Given the description of an element on the screen output the (x, y) to click on. 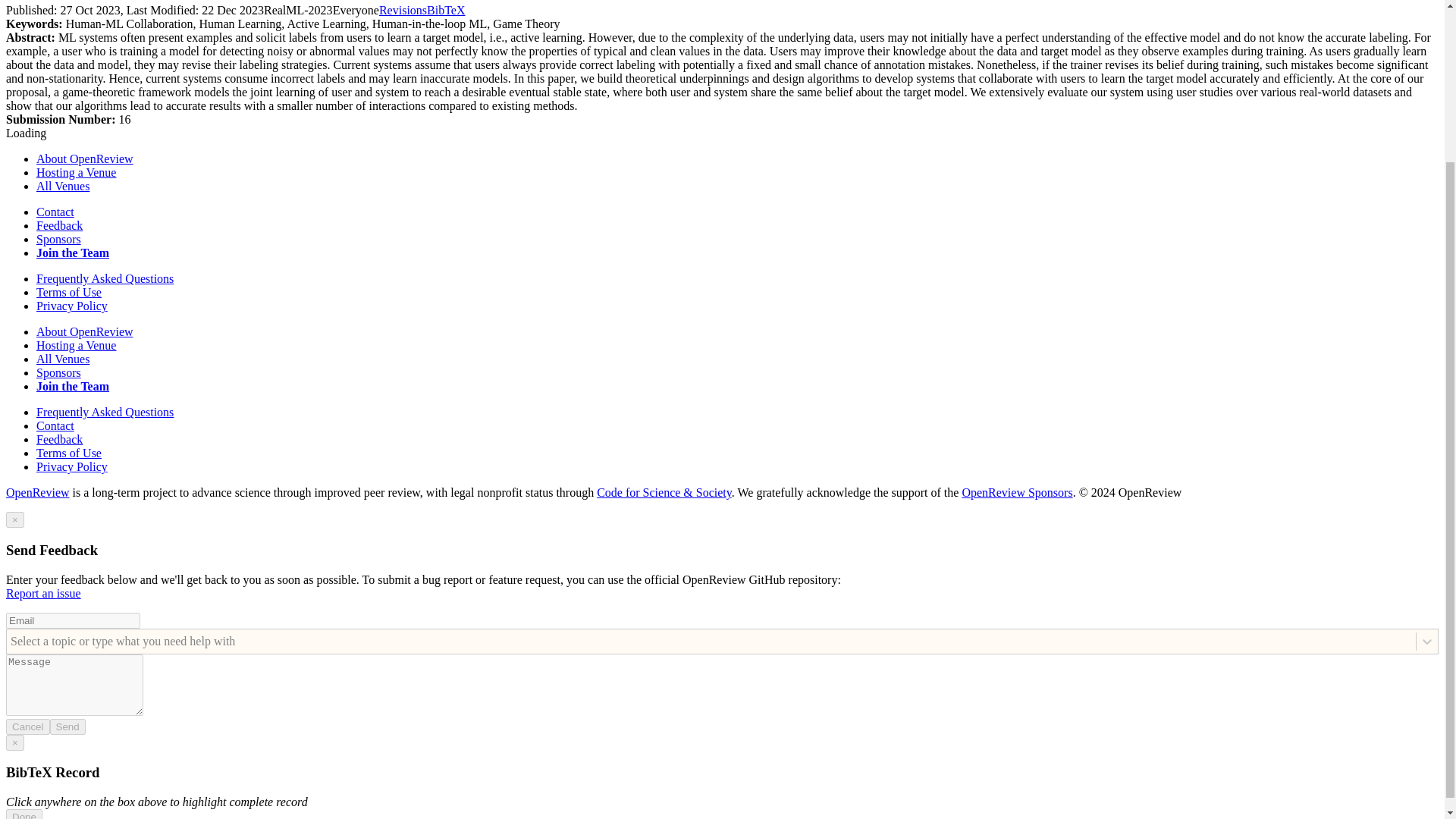
About OpenReview (84, 331)
All Venues (62, 358)
Terms of Use (68, 291)
BibTeX (445, 10)
Report an issue (43, 593)
Contact (55, 211)
Terms of Use (68, 452)
Join the Team (72, 252)
Contact (55, 425)
Sponsors (58, 372)
Cancel (27, 726)
Hosting a Venue (76, 345)
Revisions (402, 10)
About OpenReview (84, 158)
Sponsors (58, 238)
